Given the description of an element on the screen output the (x, y) to click on. 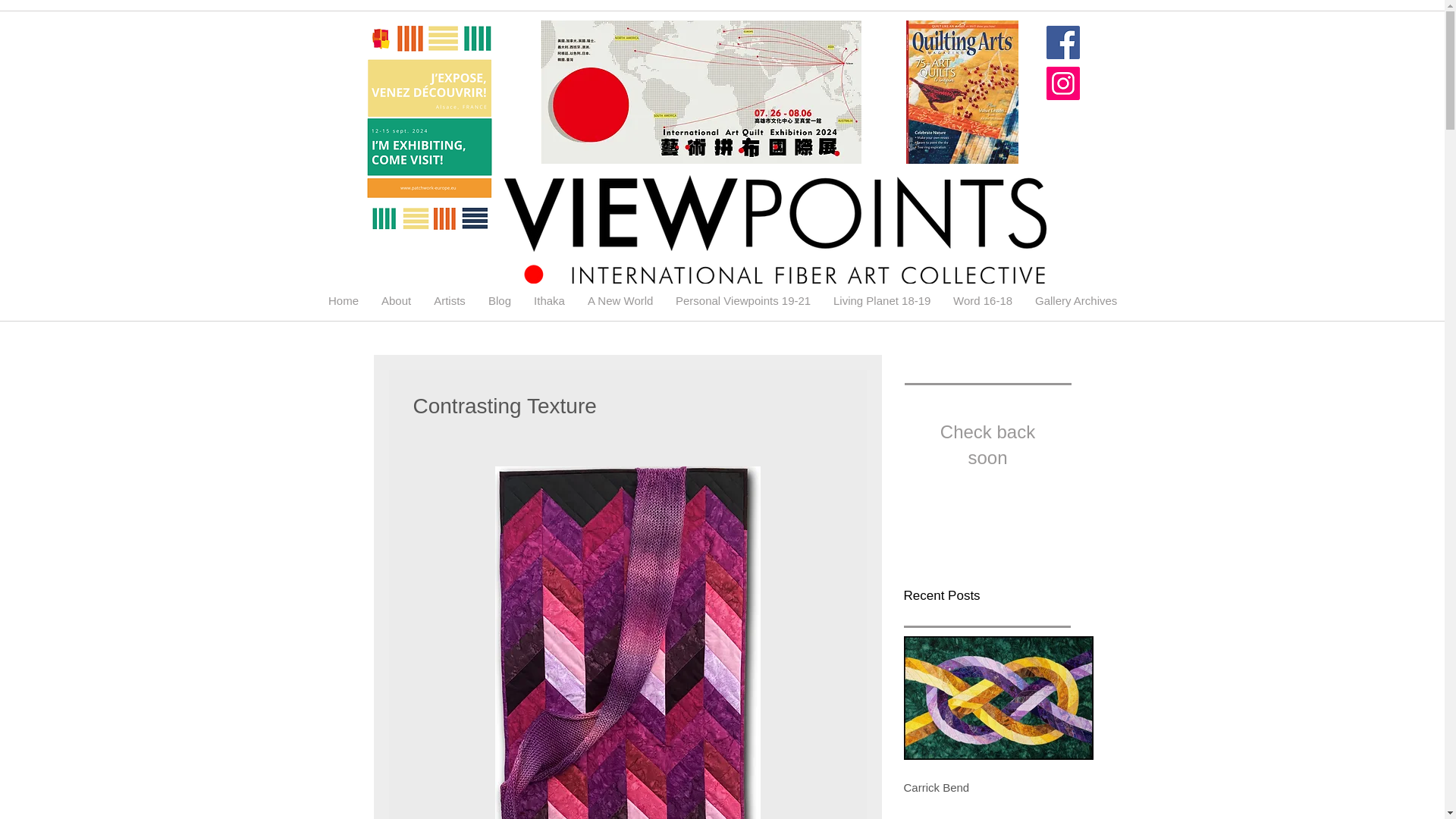
Blog (499, 300)
About (395, 300)
Home (343, 300)
